Given the description of an element on the screen output the (x, y) to click on. 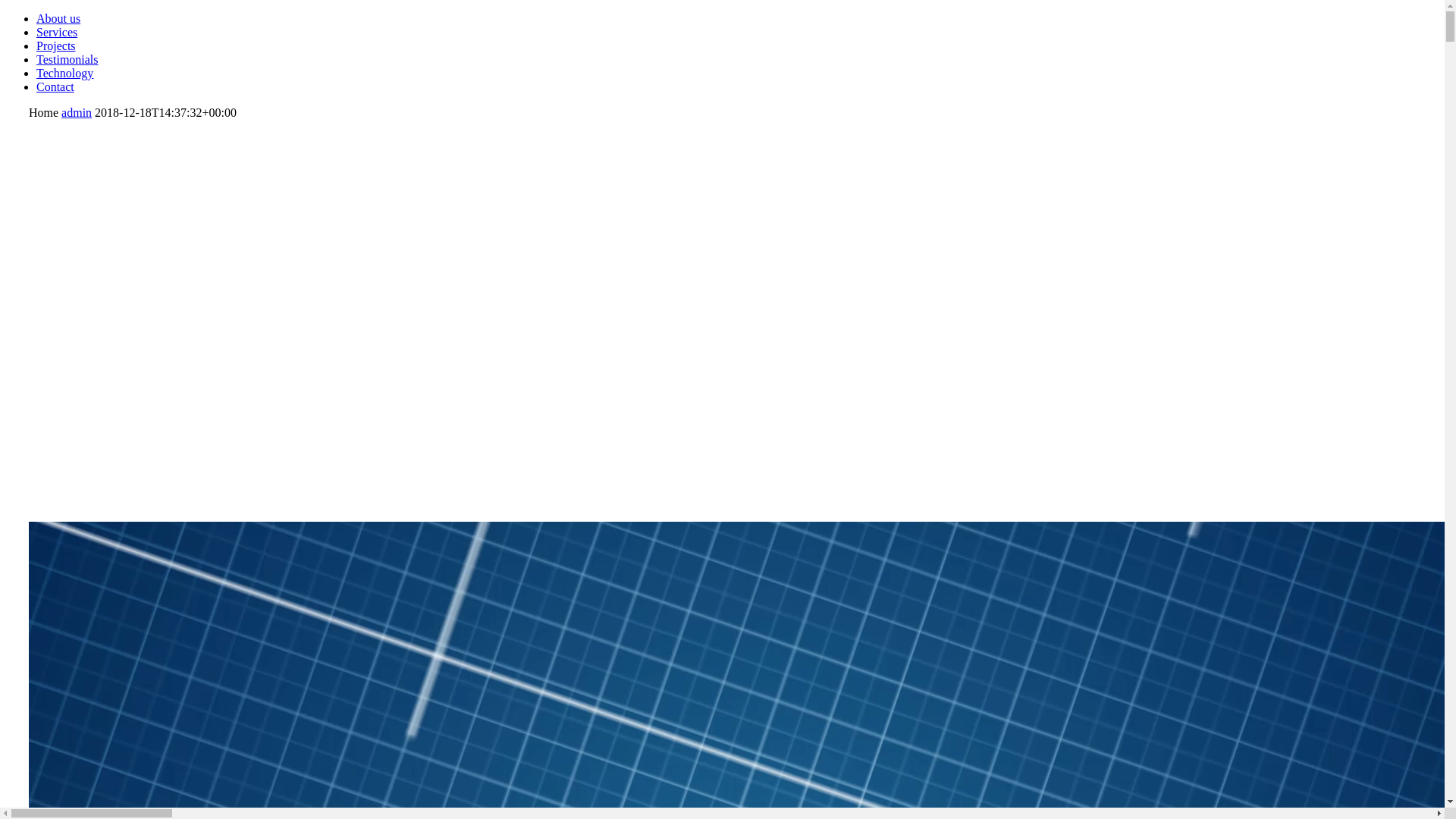
Projects Element type: text (55, 45)
Technology Element type: text (64, 72)
admin Element type: text (76, 112)
Services Element type: text (56, 31)
Contact Element type: text (55, 86)
Testimonials Element type: text (67, 59)
About us Element type: text (58, 18)
